Given the description of an element on the screen output the (x, y) to click on. 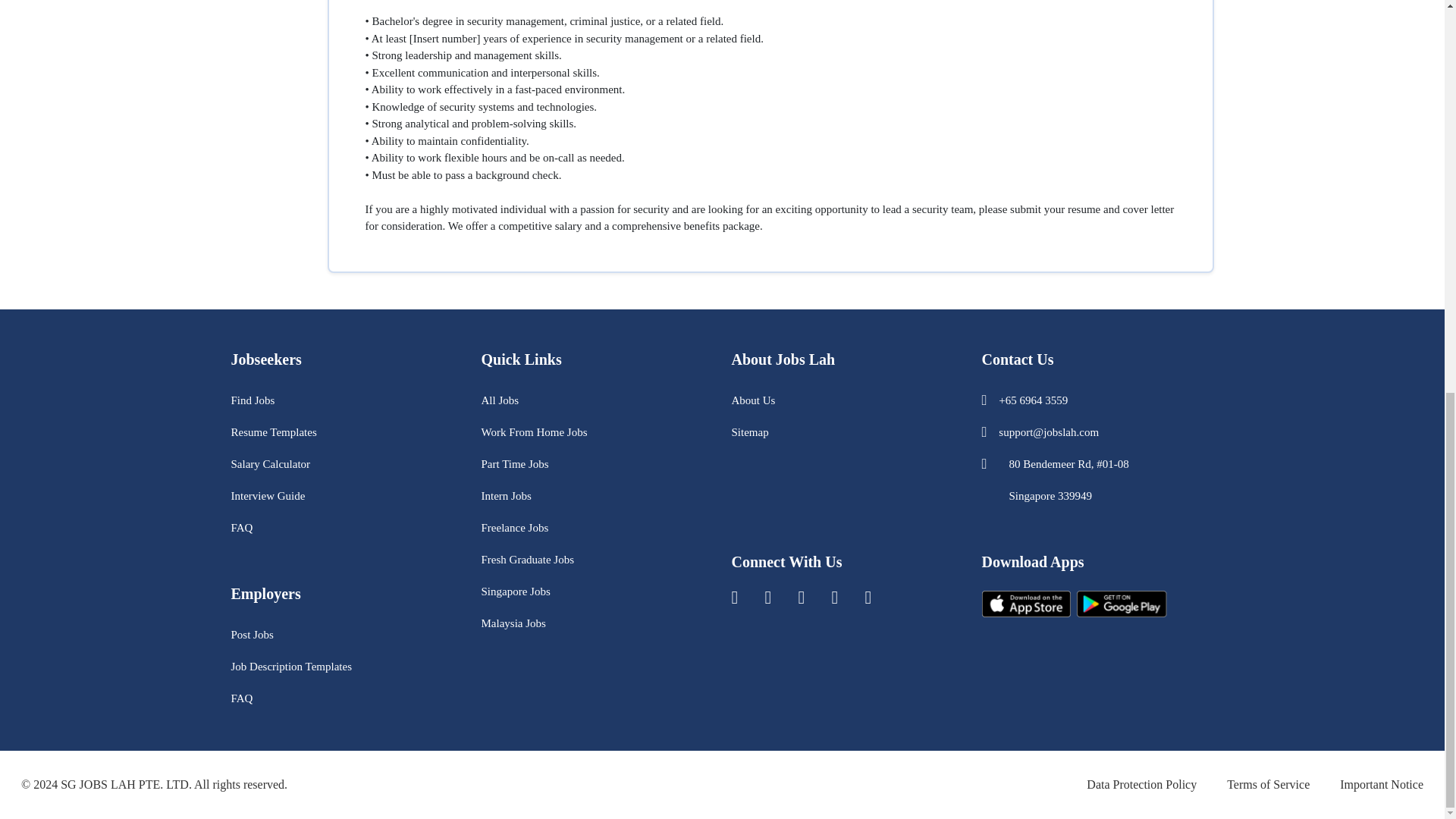
Find Jobs (252, 400)
Salary Calculator (270, 463)
Resume Templates (272, 431)
